Given the description of an element on the screen output the (x, y) to click on. 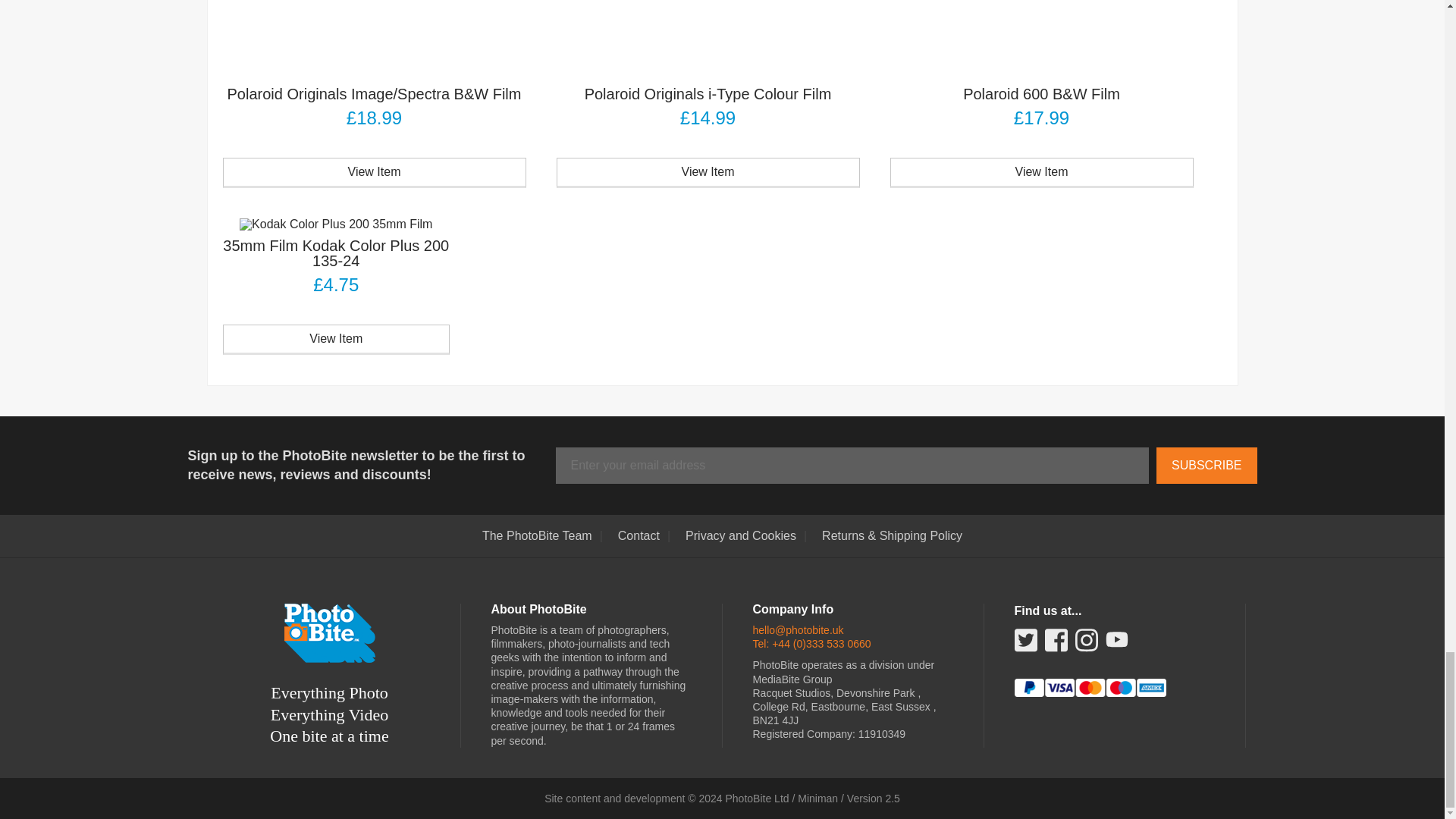
Find us on Facebook (1056, 644)
Find us on Instagram (1086, 644)
Find us on Twitter (1025, 644)
